Given the description of an element on the screen output the (x, y) to click on. 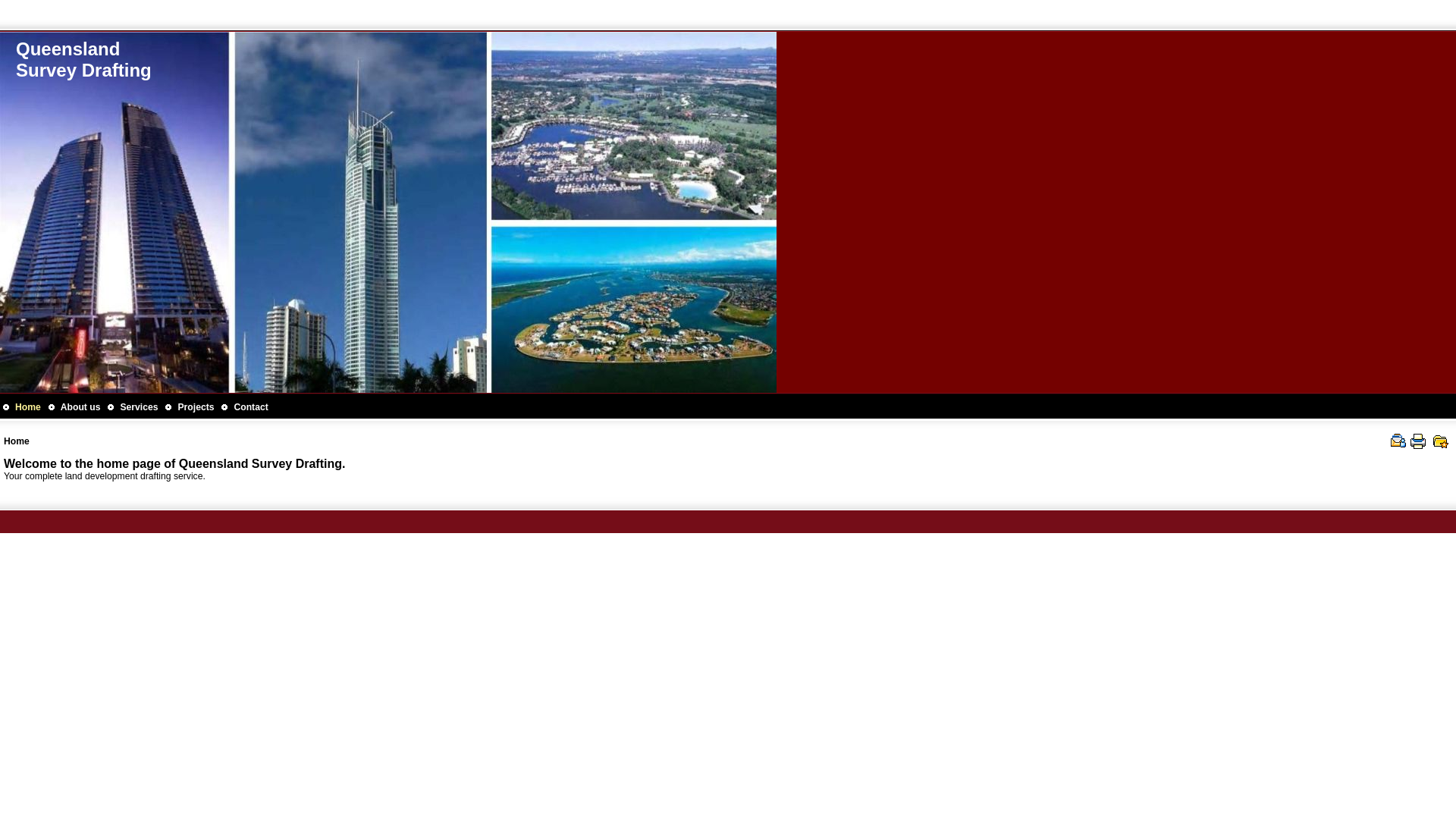
Services Element type: text (138, 406)
Projects Element type: text (195, 406)
Contact Element type: text (250, 406)
About us Element type: text (80, 406)
Add to Favorite Element type: hover (1440, 441)
Home Element type: text (27, 406)
Print this page Element type: hover (1417, 441)
Email a Page to a Friend Element type: hover (1398, 441)
